Given the description of an element on the screen output the (x, y) to click on. 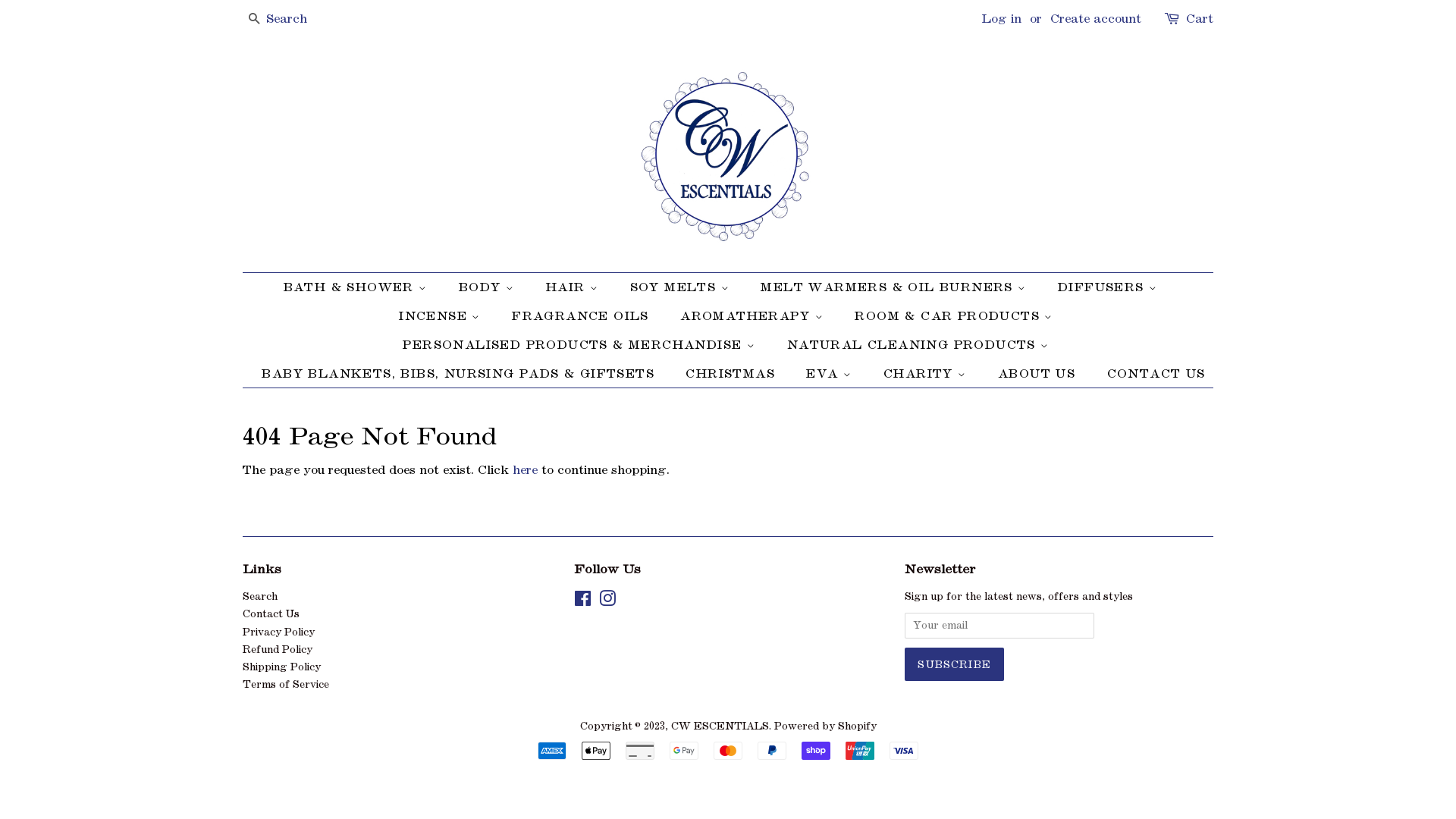
HAIR Element type: text (573, 287)
BATH & SHOWER Element type: text (362, 287)
Create account Element type: text (1095, 18)
BABY BLANKETS, BIBS, NURSING PADS & GIFTSETS Element type: text (459, 373)
CHARITY Element type: text (927, 373)
MELT WARMERS & OIL BURNERS Element type: text (895, 287)
Subscribe Element type: text (954, 663)
NATURAL CLEANING PRODUCTS Element type: text (919, 344)
PERSONALISED PRODUCTS & MERCHANDISE Element type: text (580, 344)
FRAGRANCE OILS Element type: text (582, 315)
EVA Element type: text (830, 373)
Powered by Shopify Element type: text (824, 725)
BODY Element type: text (488, 287)
Contact Us Element type: text (270, 613)
Refund Policy Element type: text (277, 649)
SEARCH Element type: text (254, 18)
CHRISTMAS Element type: text (732, 373)
Search Element type: text (259, 596)
CW ESCENTIALS Element type: text (719, 725)
here Element type: text (524, 469)
ROOM & CAR PRODUCTS Element type: text (955, 315)
ABOUT US Element type: text (1038, 373)
Log in Element type: text (1001, 18)
Shipping Policy Element type: text (281, 666)
INCENSE Element type: text (441, 315)
Terms of Service Element type: text (285, 684)
AROMATHERAPY Element type: text (753, 315)
DIFFUSERS Element type: text (1109, 287)
SOY MELTS Element type: text (681, 287)
CONTACT US Element type: text (1150, 373)
Privacy Policy Element type: text (278, 631)
Cart Element type: text (1199, 18)
Facebook Element type: text (582, 601)
Instagram Element type: text (607, 601)
